Given the description of an element on the screen output the (x, y) to click on. 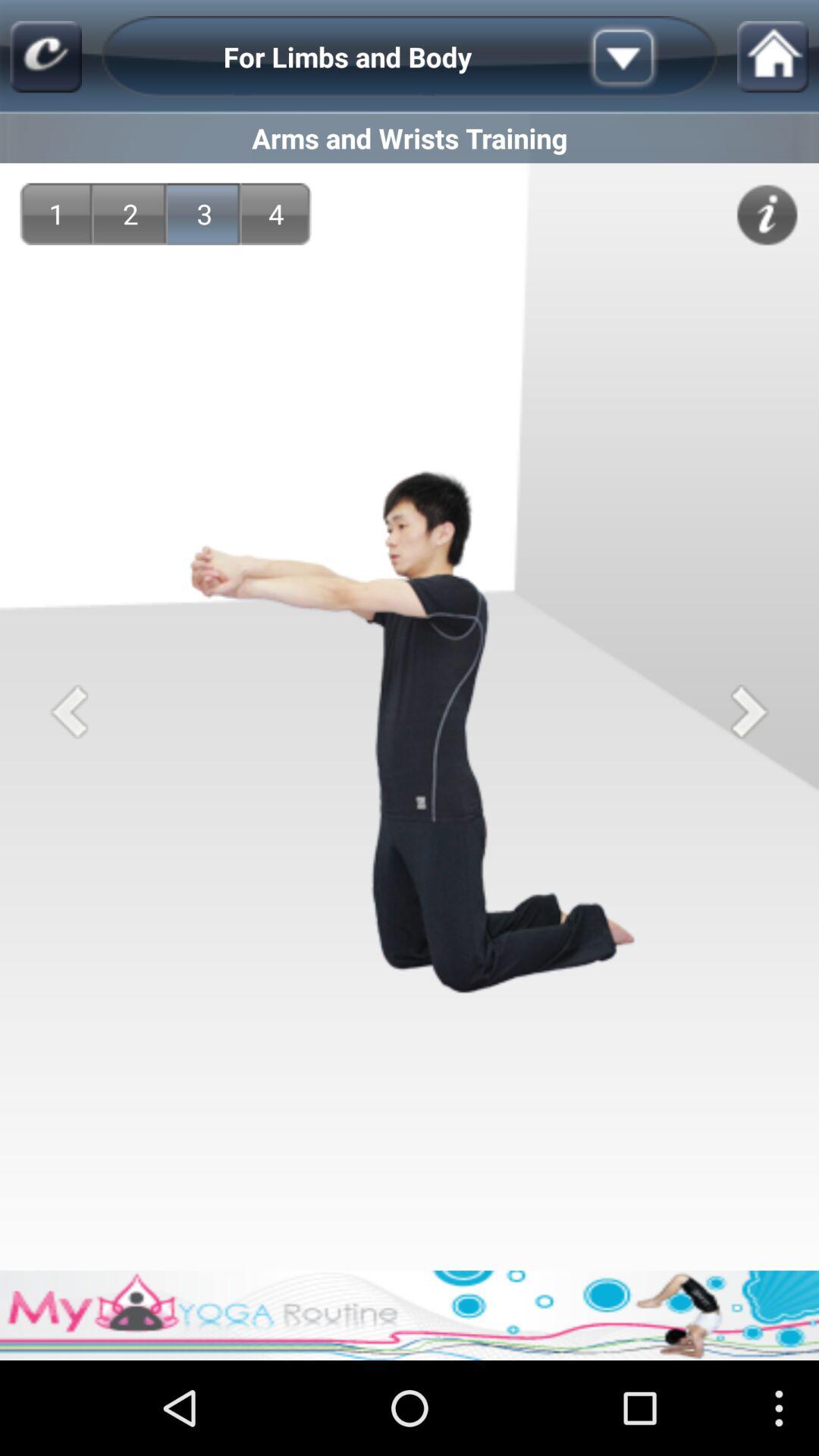
display list (646, 56)
